Given the description of an element on the screen output the (x, y) to click on. 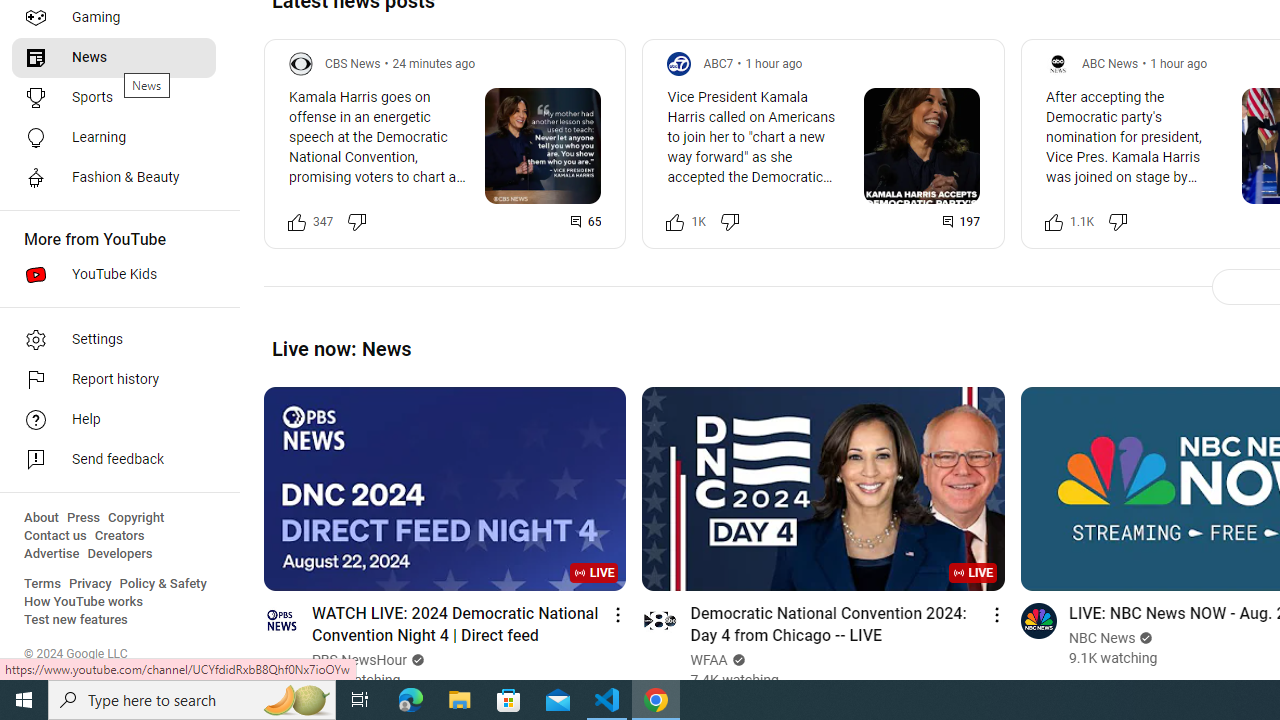
Action menu (996, 614)
Like this post along with 347 other people (297, 221)
Settings (113, 339)
Report history (113, 380)
News (113, 57)
Policy & Safety (163, 584)
Copyright (136, 518)
Comment (961, 221)
WFAA (709, 660)
